Given the description of an element on the screen output the (x, y) to click on. 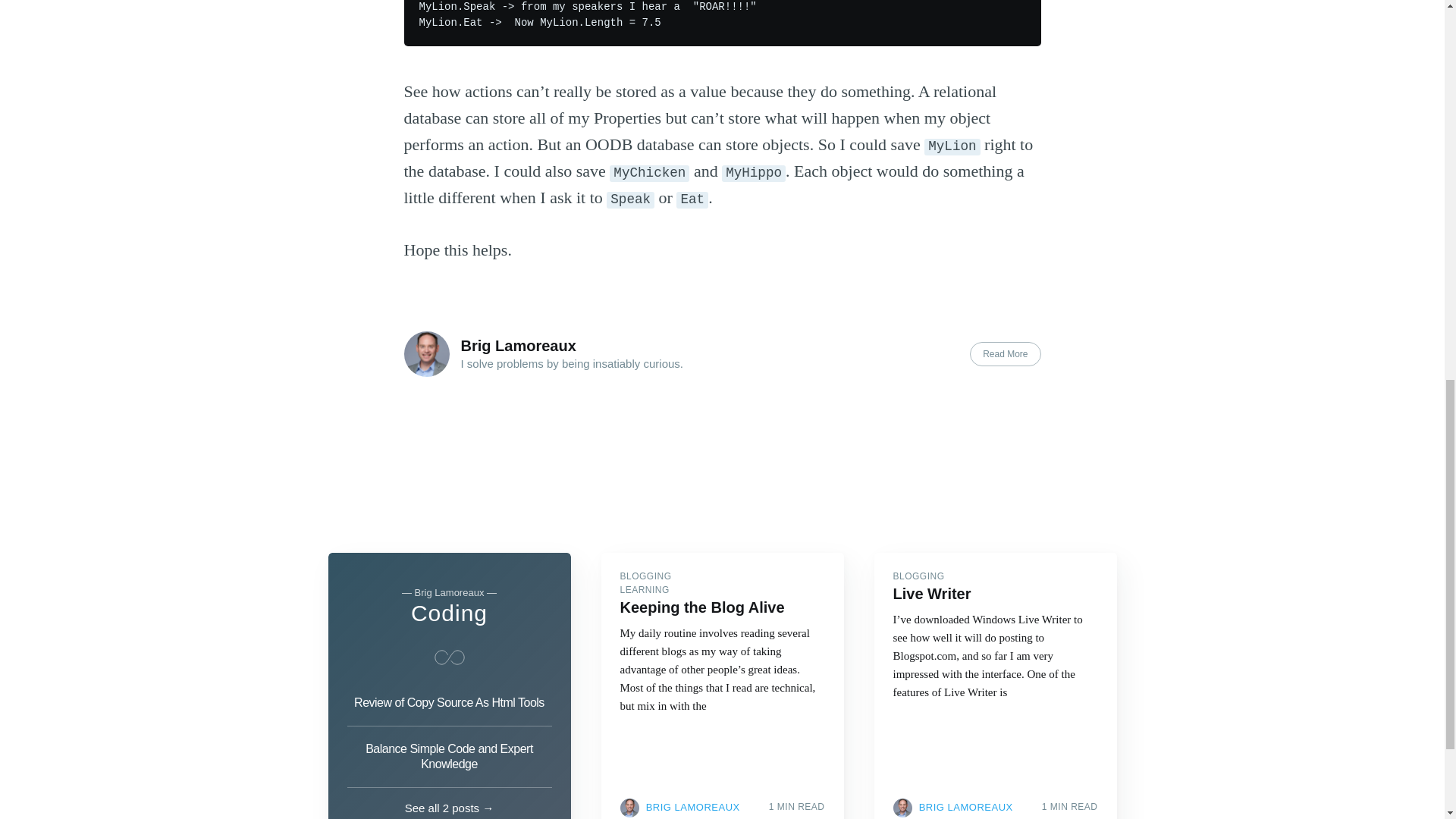
Coding (448, 612)
Balance Simple Code and Expert Knowledge (449, 756)
Read More (1005, 354)
BRIG LAMOREAUX (965, 807)
Review of Copy Source As Html Tools (449, 706)
Brig Lamoreaux (518, 345)
BRIG LAMOREAUX (692, 807)
